Given the description of an element on the screen output the (x, y) to click on. 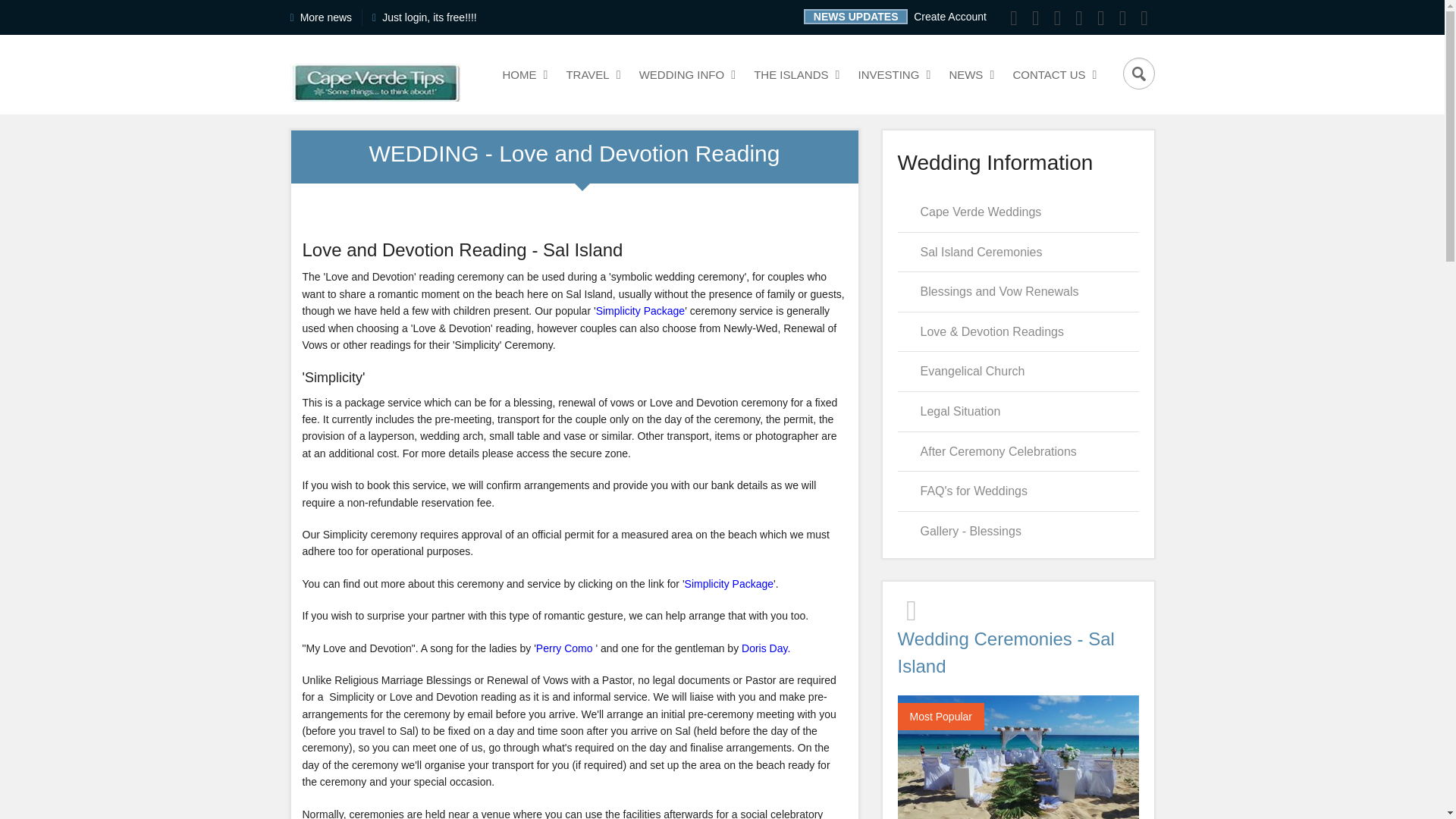
Create Account (949, 16)
Simplicity ceremony and package Sal Island (640, 310)
TRAVEL (590, 74)
Just login, its free!!!! (429, 17)
More news (565, 648)
HOME (325, 17)
NEWS UPDATES (522, 74)
THE ISLANDS (855, 16)
INVESTING (793, 74)
Doris Day - 'My Love and Devotion' (892, 74)
WEDDING INFO (765, 648)
